Given the description of an element on the screen output the (x, y) to click on. 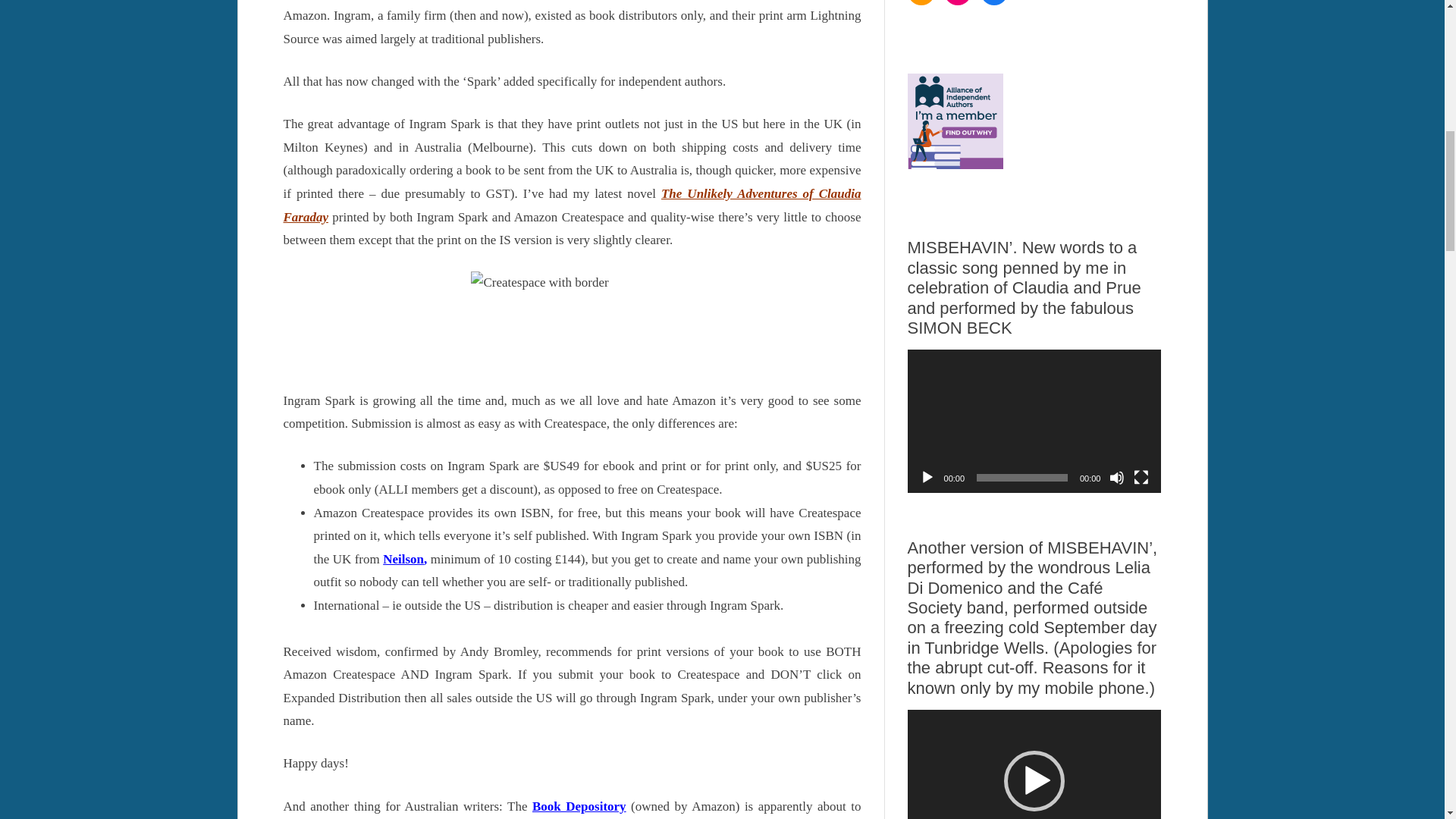
Play (927, 477)
Book Depository (579, 806)
Neilson (402, 559)
The Unlikely Adventures of Claudia Faraday (572, 205)
Mute (1116, 477)
Fullscreen (1141, 477)
